Given the description of an element on the screen output the (x, y) to click on. 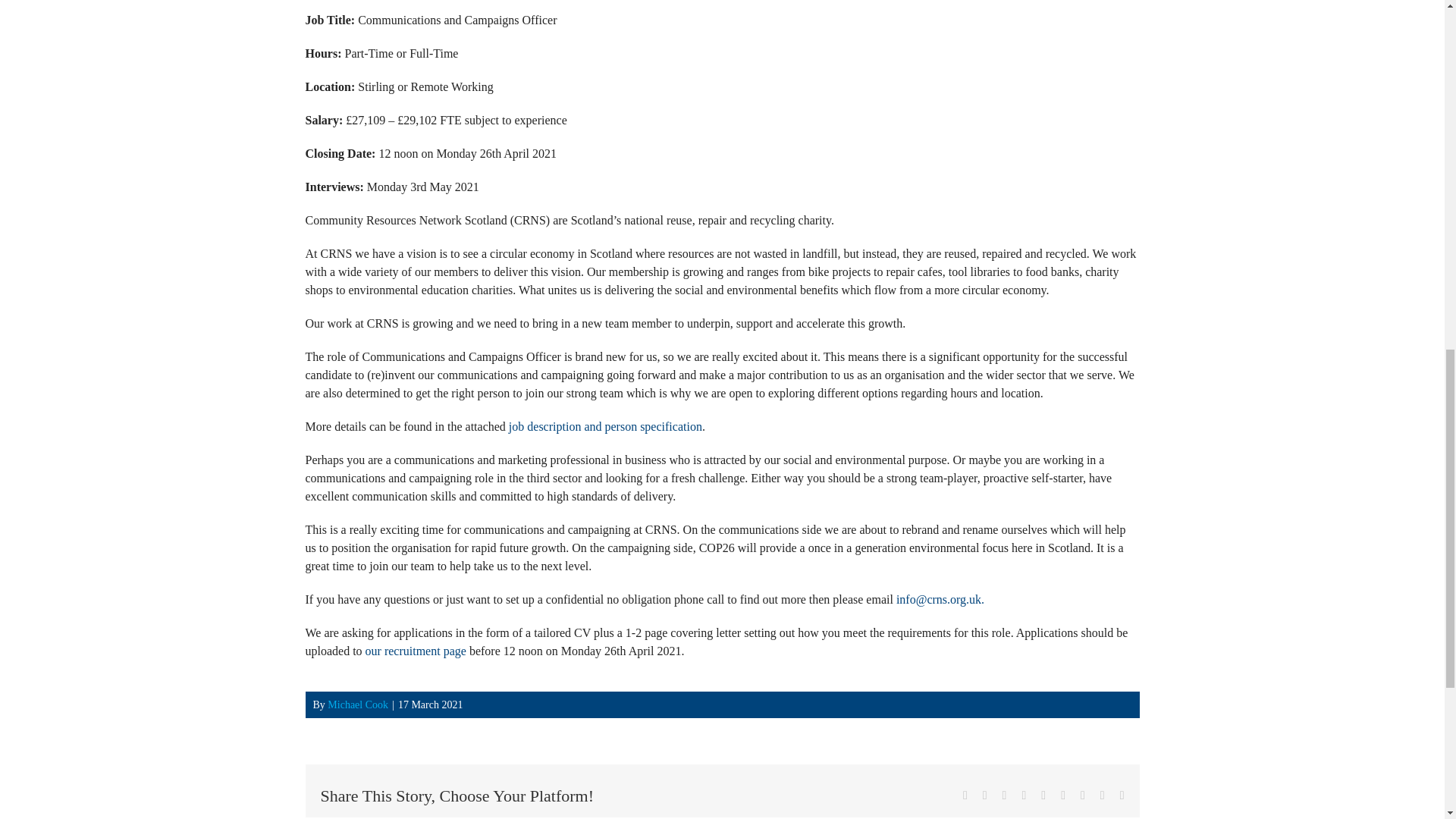
our recruitment page (415, 650)
Posts by Michael Cook (357, 704)
Michael Cook (357, 704)
job description and person specification (604, 426)
